Given the description of an element on the screen output the (x, y) to click on. 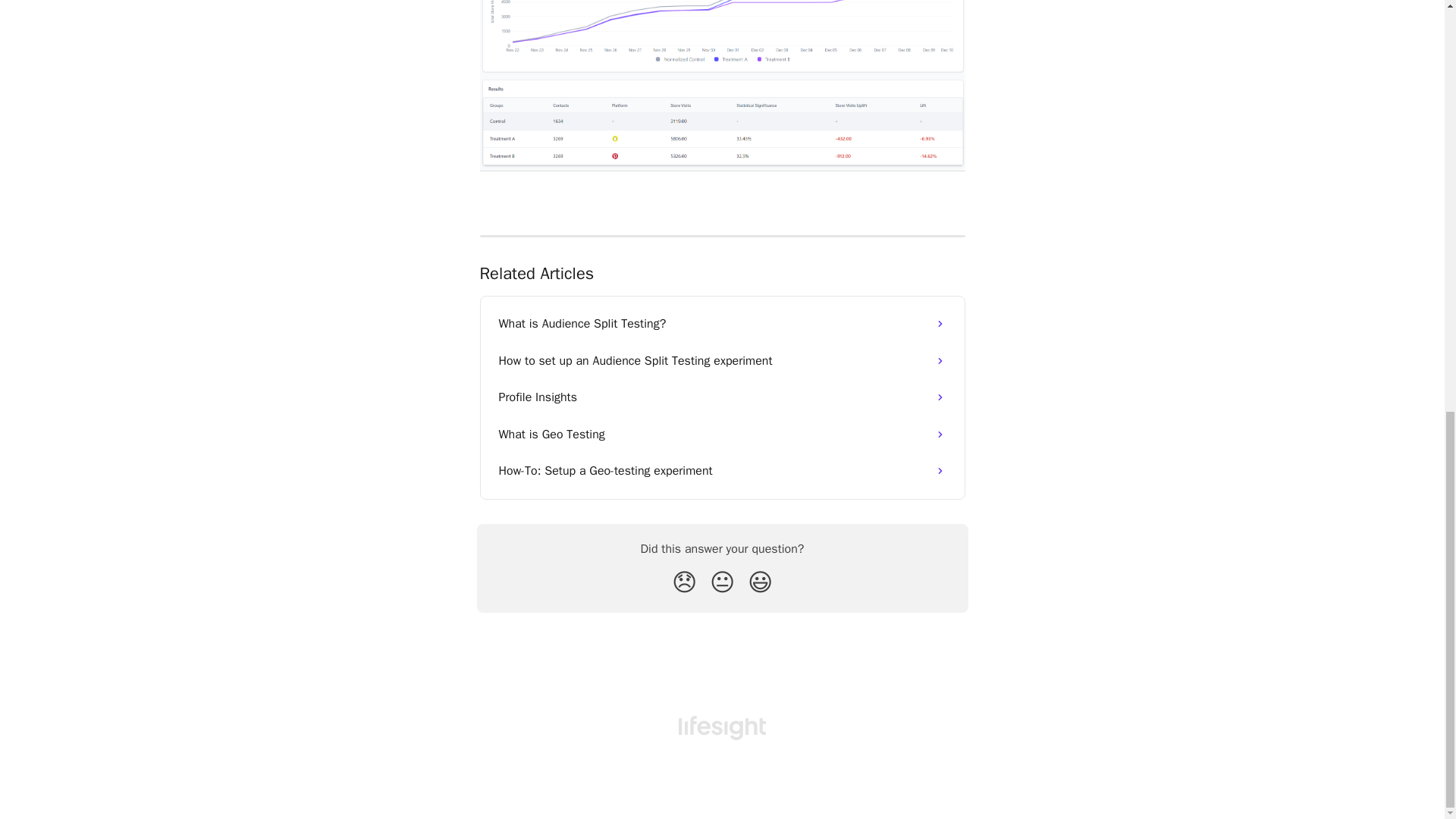
What is Geo Testing (722, 434)
How to set up an Audience Split Testing experiment (722, 361)
What is Audience Split Testing? (722, 323)
How-To: Setup a Geo-testing experiment (722, 470)
Profile Insights (722, 397)
